Given the description of an element on the screen output the (x, y) to click on. 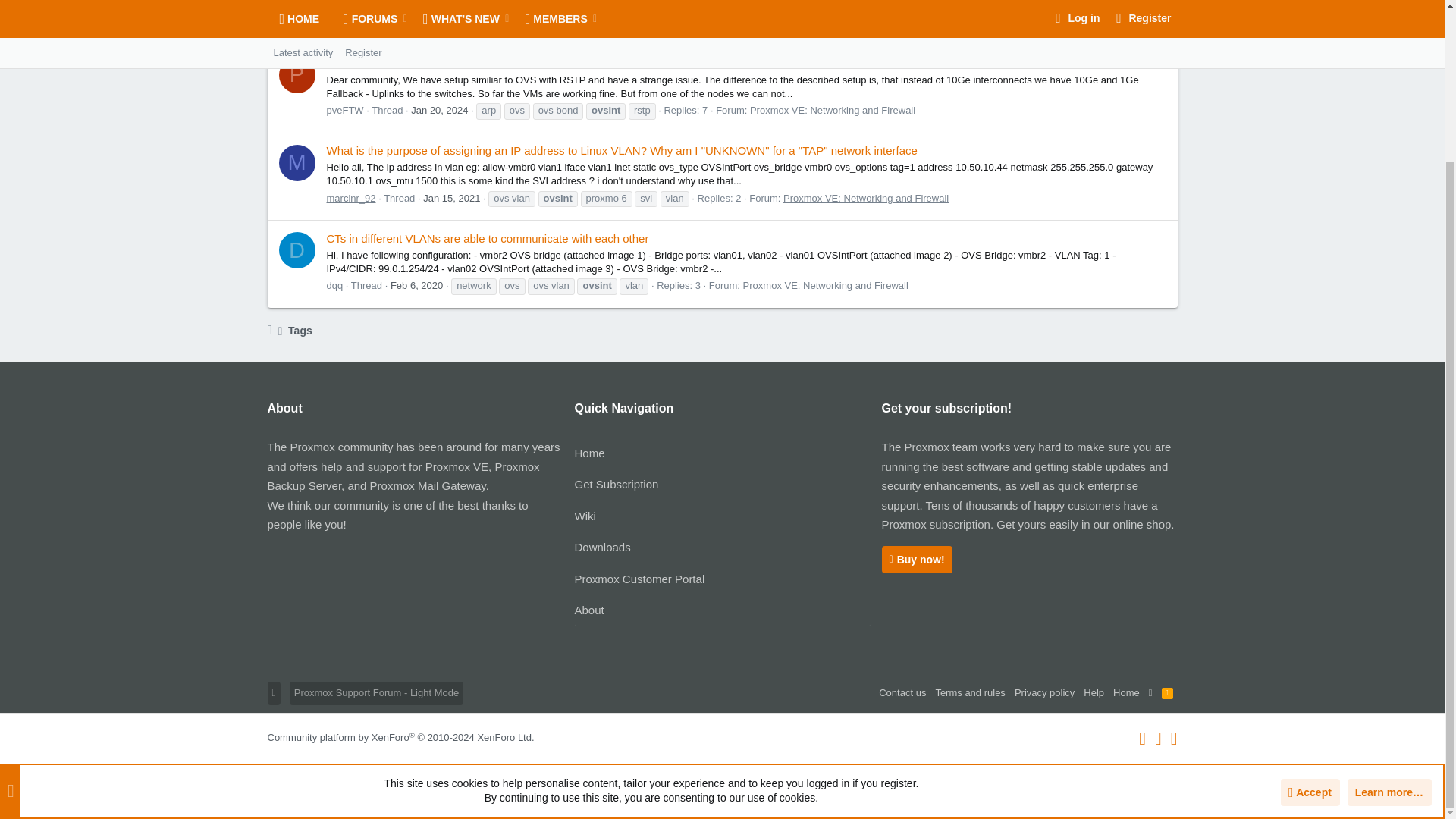
Jan 20, 2024 at 14:59 (438, 110)
Style chooser (376, 692)
RSS (1167, 692)
Jan 15, 2021 at 17:13 (451, 197)
Feb 6, 2020 at 19:06 (416, 285)
